Given the description of an element on the screen output the (x, y) to click on. 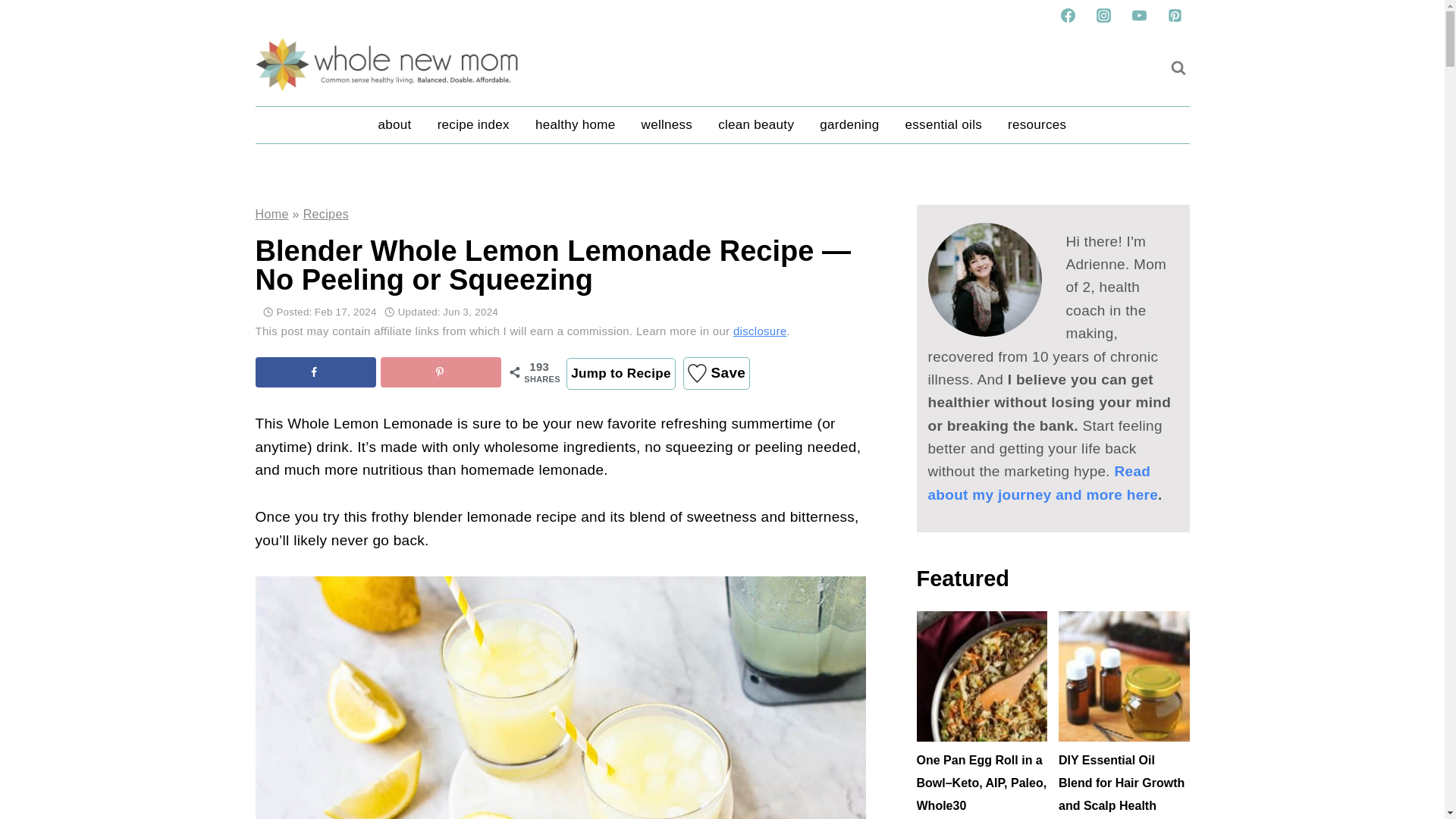
resources (1036, 125)
Recipes (325, 213)
disclosure (760, 330)
gardening (848, 125)
Save (715, 373)
about (395, 125)
recipe index (473, 125)
healthy home (575, 125)
Jump to Recipe (620, 373)
wellness (667, 125)
Save to Pinterest (440, 372)
clean beauty (755, 125)
Share on Facebook (314, 372)
Home (271, 213)
